Given the description of an element on the screen output the (x, y) to click on. 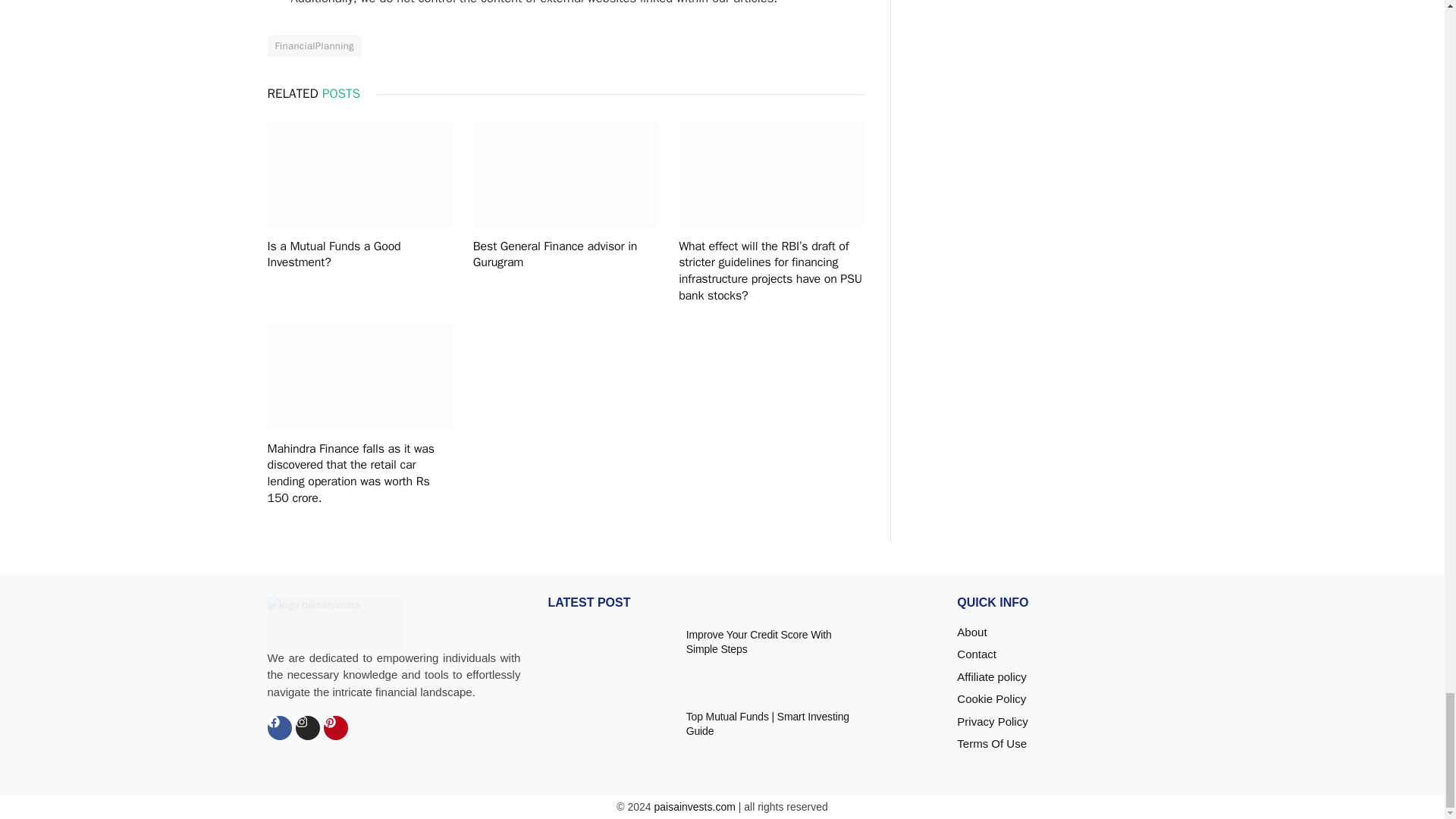
Is a Mutual Funds a Good Investment? (359, 174)
Best General Finance advisor in Gurugram (566, 174)
